Given the description of an element on the screen output the (x, y) to click on. 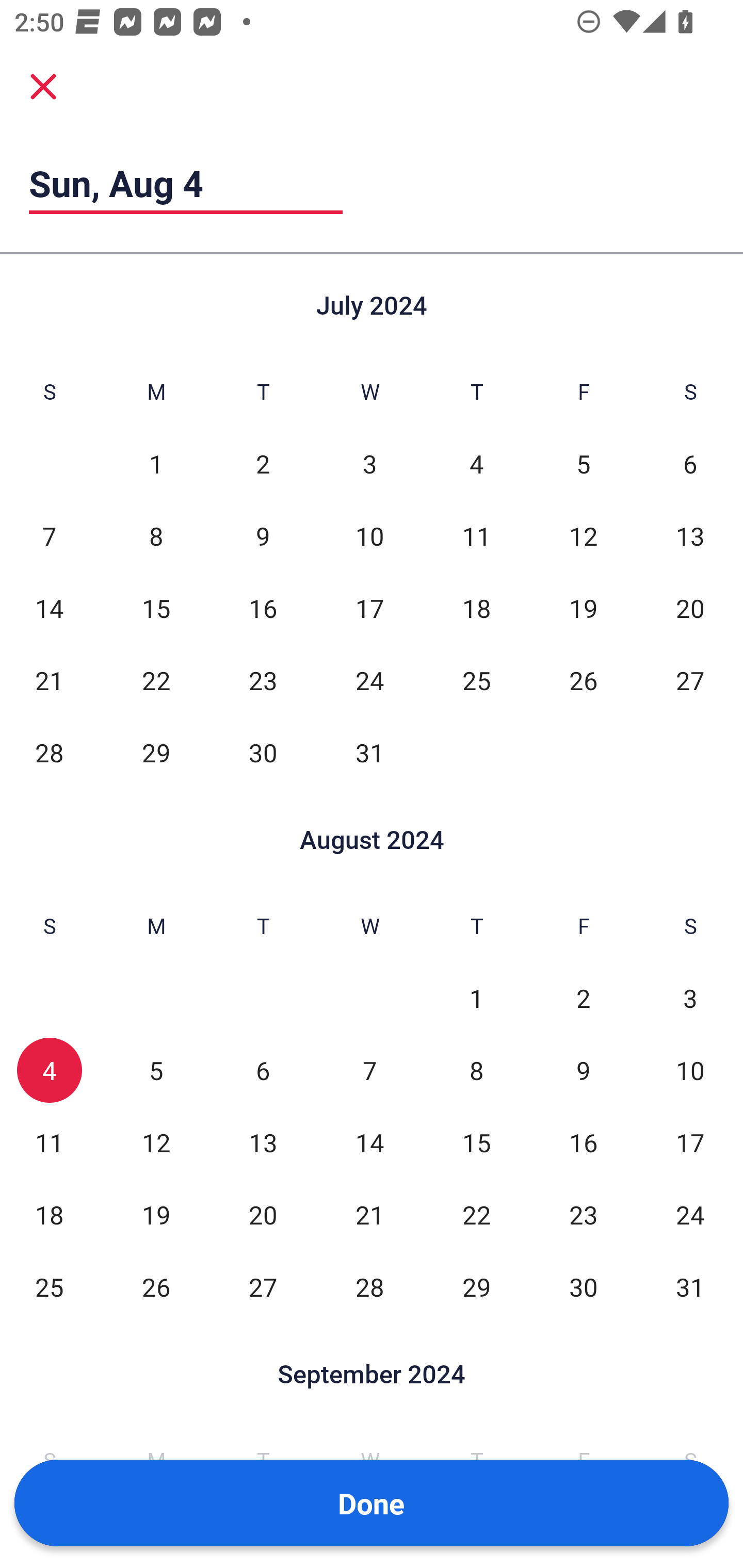
Cancel (43, 86)
Sun, Aug 4 (185, 182)
1 Mon, Jul 1, Not Selected (156, 464)
2 Tue, Jul 2, Not Selected (263, 464)
3 Wed, Jul 3, Not Selected (369, 464)
4 Thu, Jul 4, Not Selected (476, 464)
5 Fri, Jul 5, Not Selected (583, 464)
6 Sat, Jul 6, Not Selected (690, 464)
7 Sun, Jul 7, Not Selected (49, 536)
8 Mon, Jul 8, Not Selected (156, 536)
9 Tue, Jul 9, Not Selected (263, 536)
10 Wed, Jul 10, Not Selected (369, 536)
11 Thu, Jul 11, Not Selected (476, 536)
12 Fri, Jul 12, Not Selected (583, 536)
13 Sat, Jul 13, Not Selected (690, 536)
14 Sun, Jul 14, Not Selected (49, 608)
15 Mon, Jul 15, Not Selected (156, 608)
16 Tue, Jul 16, Not Selected (263, 608)
17 Wed, Jul 17, Not Selected (369, 608)
18 Thu, Jul 18, Not Selected (476, 608)
19 Fri, Jul 19, Not Selected (583, 608)
20 Sat, Jul 20, Not Selected (690, 608)
21 Sun, Jul 21, Not Selected (49, 680)
22 Mon, Jul 22, Not Selected (156, 680)
23 Tue, Jul 23, Not Selected (263, 680)
24 Wed, Jul 24, Not Selected (369, 680)
25 Thu, Jul 25, Not Selected (476, 680)
26 Fri, Jul 26, Not Selected (583, 680)
27 Sat, Jul 27, Not Selected (690, 680)
28 Sun, Jul 28, Not Selected (49, 752)
29 Mon, Jul 29, Not Selected (156, 752)
30 Tue, Jul 30, Not Selected (263, 752)
31 Wed, Jul 31, Not Selected (369, 752)
1 Thu, Aug 1, Not Selected (476, 997)
2 Fri, Aug 2, Not Selected (583, 997)
3 Sat, Aug 3, Not Selected (690, 997)
4 Sun, Aug 4, Selected (49, 1070)
5 Mon, Aug 5, Not Selected (156, 1070)
6 Tue, Aug 6, Not Selected (263, 1070)
7 Wed, Aug 7, Not Selected (369, 1070)
8 Thu, Aug 8, Not Selected (476, 1070)
9 Fri, Aug 9, Not Selected (583, 1070)
10 Sat, Aug 10, Not Selected (690, 1070)
11 Sun, Aug 11, Not Selected (49, 1143)
12 Mon, Aug 12, Not Selected (156, 1143)
13 Tue, Aug 13, Not Selected (263, 1143)
14 Wed, Aug 14, Not Selected (369, 1143)
15 Thu, Aug 15, Not Selected (476, 1143)
16 Fri, Aug 16, Not Selected (583, 1143)
17 Sat, Aug 17, Not Selected (690, 1143)
18 Sun, Aug 18, Not Selected (49, 1215)
19 Mon, Aug 19, Not Selected (156, 1215)
20 Tue, Aug 20, Not Selected (263, 1215)
21 Wed, Aug 21, Not Selected (369, 1215)
22 Thu, Aug 22, Not Selected (476, 1215)
23 Fri, Aug 23, Not Selected (583, 1215)
24 Sat, Aug 24, Not Selected (690, 1215)
25 Sun, Aug 25, Not Selected (49, 1287)
26 Mon, Aug 26, Not Selected (156, 1287)
27 Tue, Aug 27, Not Selected (263, 1287)
28 Wed, Aug 28, Not Selected (369, 1287)
29 Thu, Aug 29, Not Selected (476, 1287)
30 Fri, Aug 30, Not Selected (583, 1287)
31 Sat, Aug 31, Not Selected (690, 1287)
Done Button Done (371, 1502)
